Given the description of an element on the screen output the (x, y) to click on. 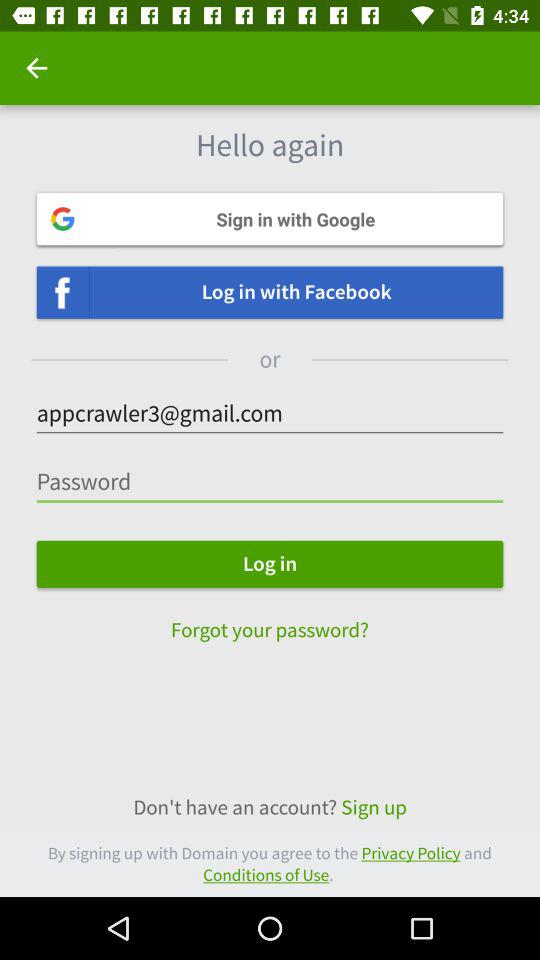
type the password (269, 482)
